Given the description of an element on the screen output the (x, y) to click on. 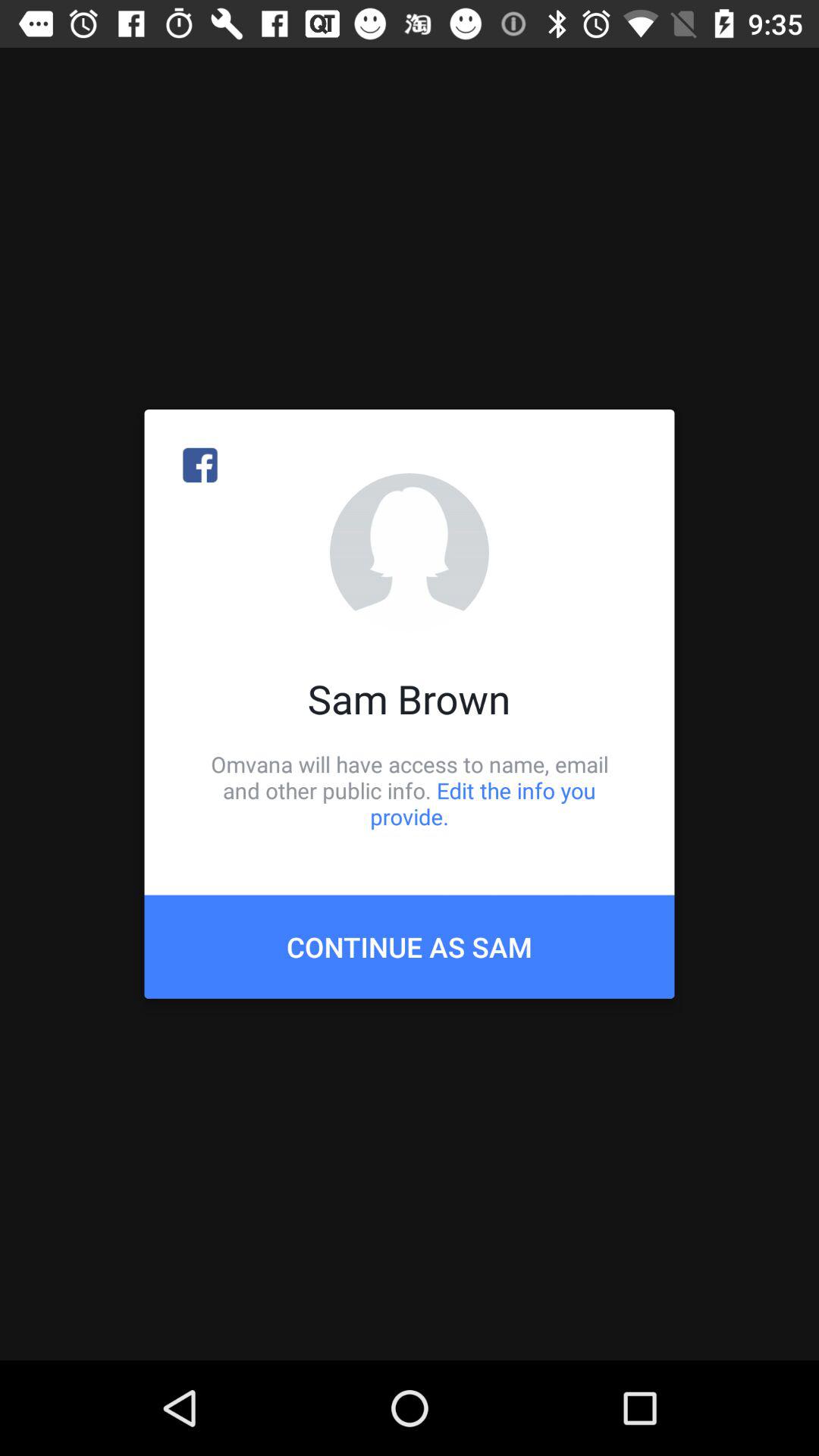
jump until omvana will have item (409, 790)
